Given the description of an element on the screen output the (x, y) to click on. 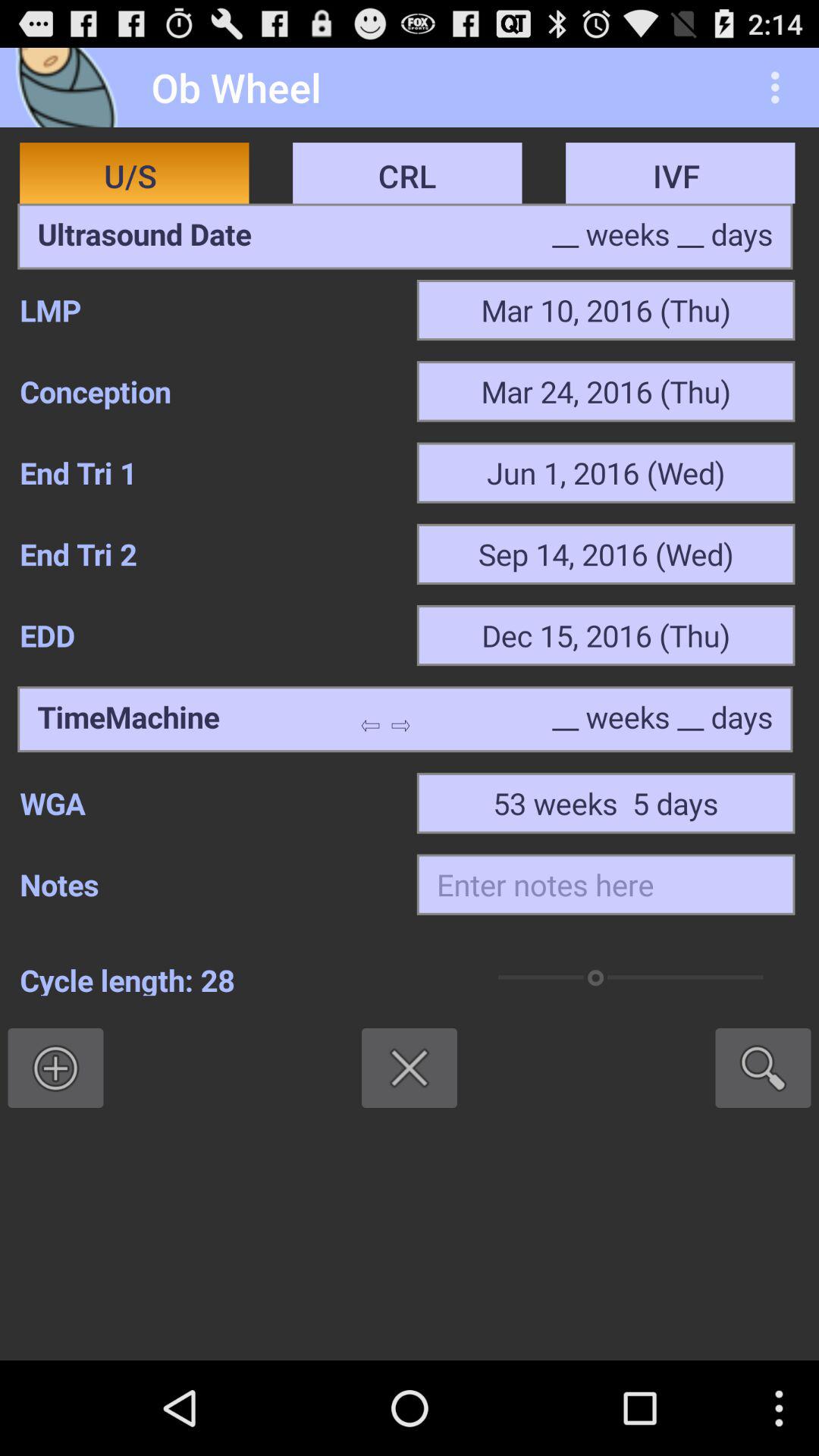
go to homescreen (71, 87)
